Given the description of an element on the screen output the (x, y) to click on. 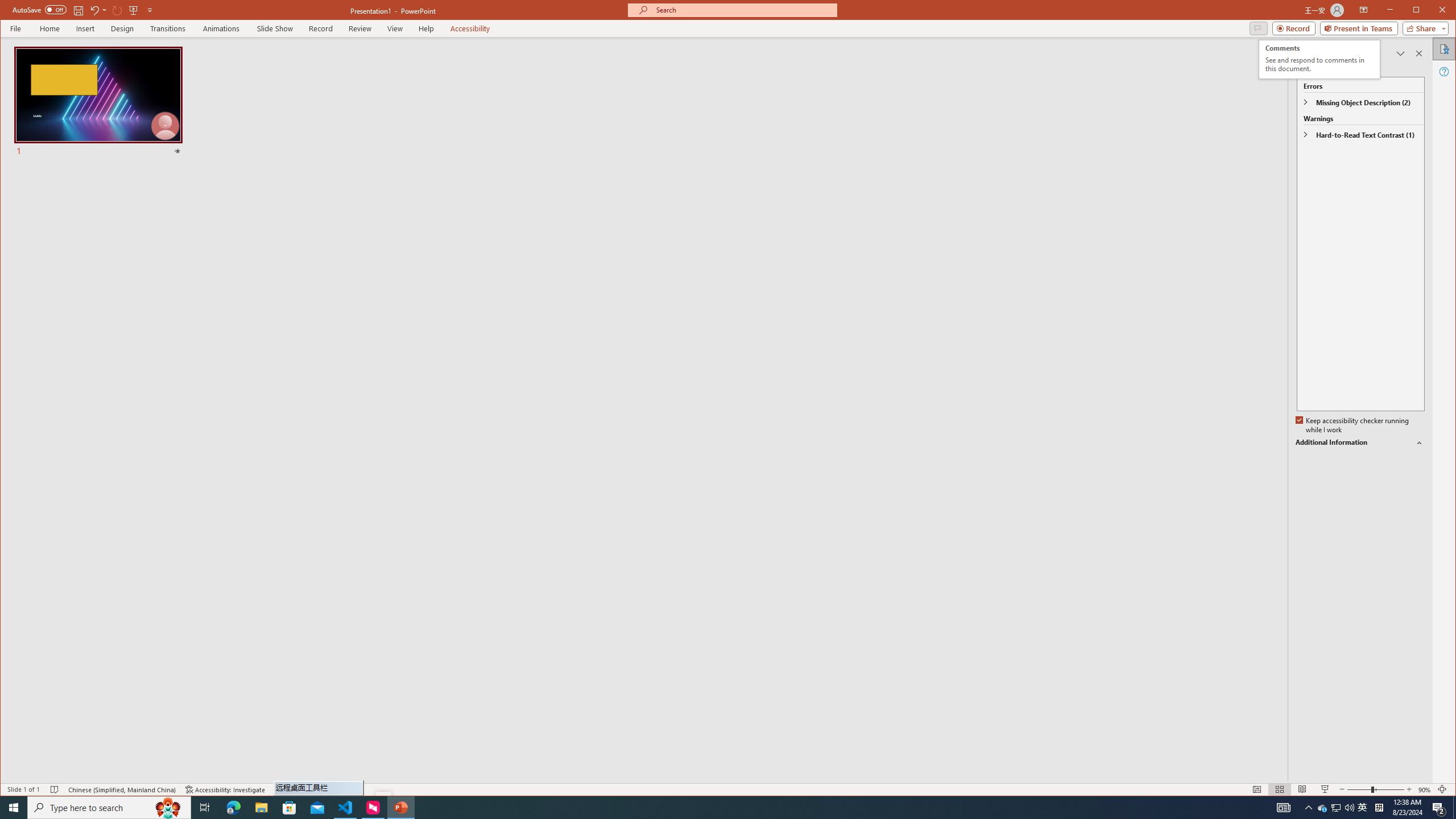
Additional Information (1360, 442)
Notification Chevron (1308, 807)
